Given the description of an element on the screen output the (x, y) to click on. 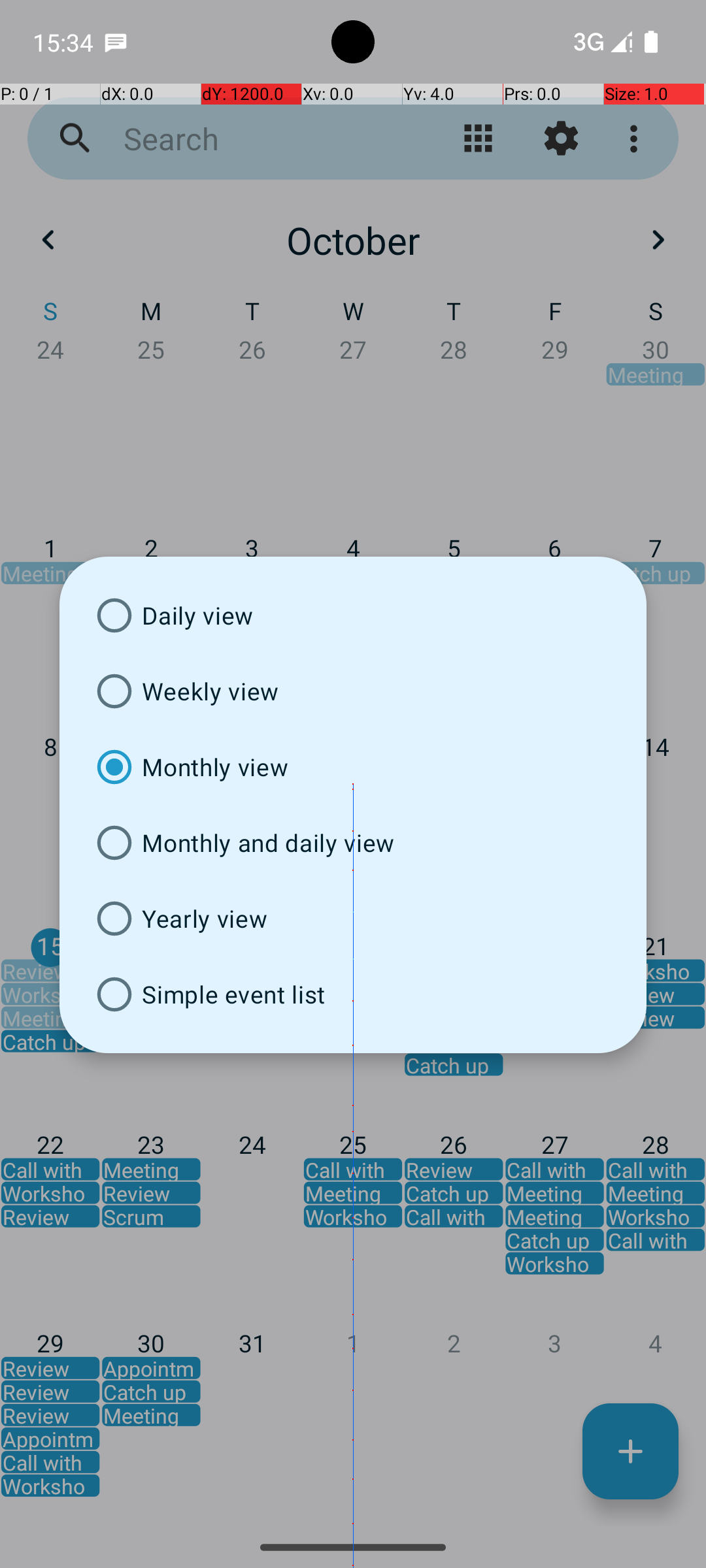
Daily view Element type: android.widget.RadioButton (352, 615)
Weekly view Element type: android.widget.RadioButton (352, 691)
Monthly view Element type: android.widget.RadioButton (352, 766)
Monthly and daily view Element type: android.widget.RadioButton (352, 842)
Yearly view Element type: android.widget.RadioButton (352, 918)
Simple event list Element type: android.widget.RadioButton (352, 994)
